Given the description of an element on the screen output the (x, y) to click on. 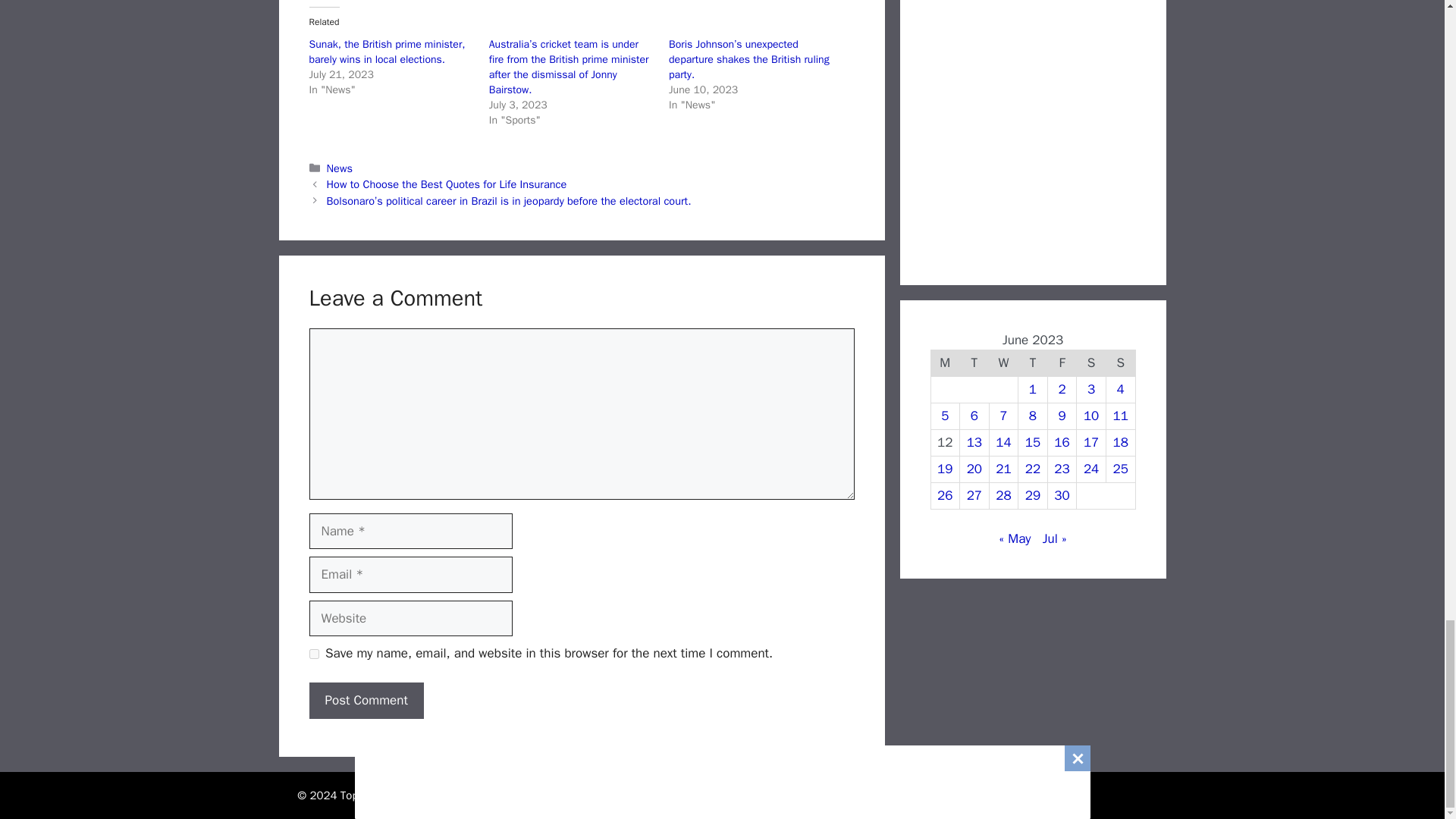
News (339, 167)
Post Comment (365, 700)
Post Comment (365, 700)
How to Choose the Best Quotes for Life Insurance (446, 183)
yes (313, 654)
